Given the description of an element on the screen output the (x, y) to click on. 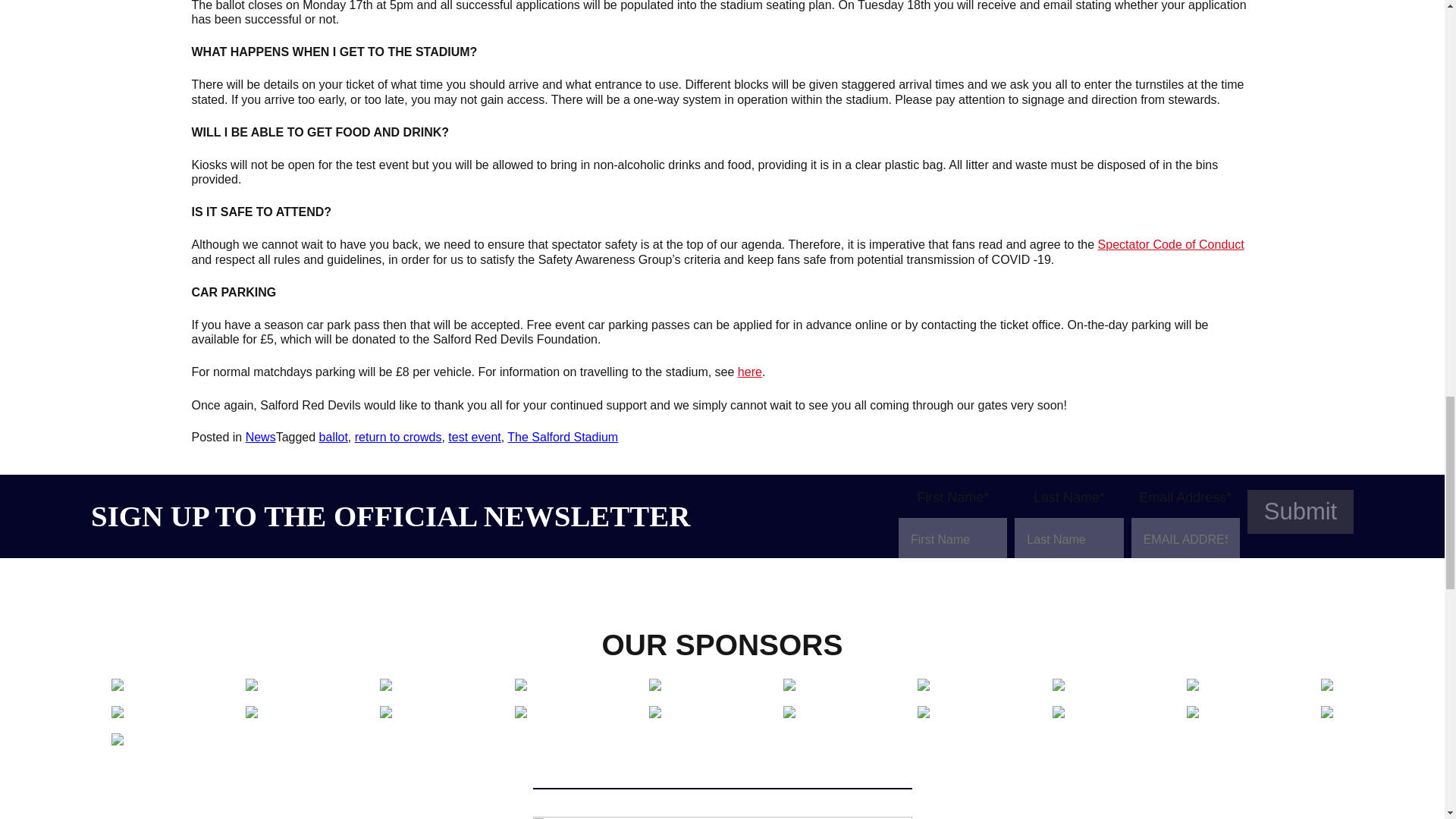
Submit (1300, 511)
